Given the description of an element on the screen output the (x, y) to click on. 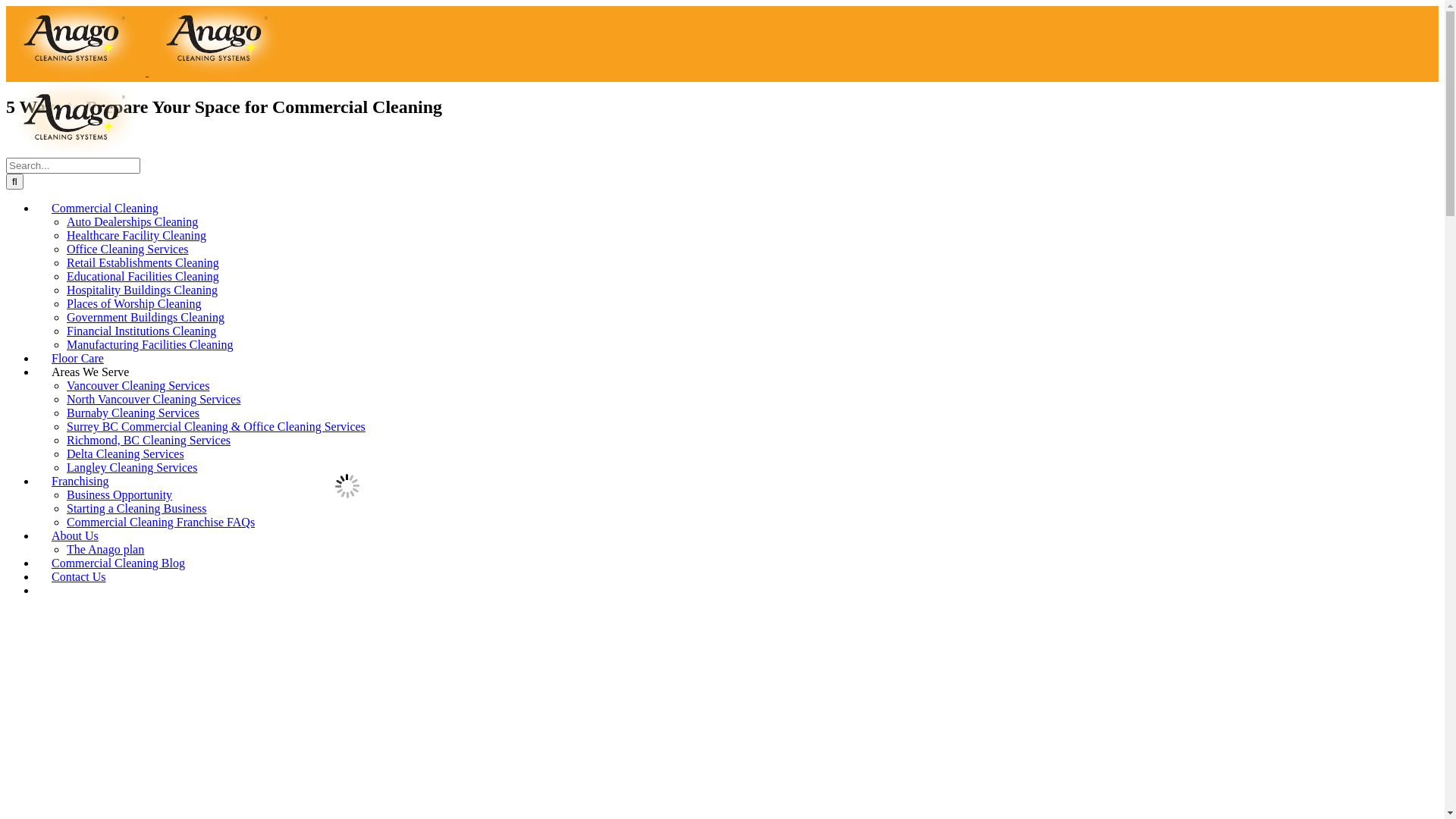
Contact Us Element type: text (78, 576)
Vancouver Cleaning Services Element type: text (137, 385)
Areas We Serve Element type: text (90, 371)
About Us Element type: text (74, 535)
Delta Cleaning Services Element type: text (125, 453)
Government Buildings Cleaning Element type: text (145, 316)
Langley Cleaning Services Element type: text (131, 467)
Commercial Cleaning Element type: text (104, 207)
Floor Care Element type: text (77, 357)
Business Opportunity Element type: text (119, 494)
Financial Institutions Cleaning Element type: text (141, 330)
Manufacturing Facilities Cleaning Element type: text (149, 344)
Healthcare Facility Cleaning Element type: text (136, 235)
Retail Establishments Cleaning Element type: text (142, 262)
Auto Dealerships Cleaning Element type: text (131, 221)
Places of Worship Cleaning Element type: text (133, 303)
Toggle Sliding Bar Element type: hover (51, 593)
Educational Facilities Cleaning Element type: text (142, 275)
Franchising Element type: text (80, 480)
Office Cleaning Services Element type: text (127, 248)
Commercial Cleaning Franchise FAQs Element type: text (160, 521)
Starting a Cleaning Business Element type: text (136, 508)
Surrey BC Commercial Cleaning & Office Cleaning Services Element type: text (215, 426)
North Vancouver Cleaning Services Element type: text (153, 398)
Richmond, BC Cleaning Services Element type: text (148, 439)
The Anago plan Element type: text (105, 548)
Skip to content Element type: text (5, 5)
Burnaby Cleaning Services Element type: text (132, 412)
Commercial Cleaning Blog Element type: text (118, 562)
Hospitality Buildings Cleaning Element type: text (141, 289)
